Given the description of an element on the screen output the (x, y) to click on. 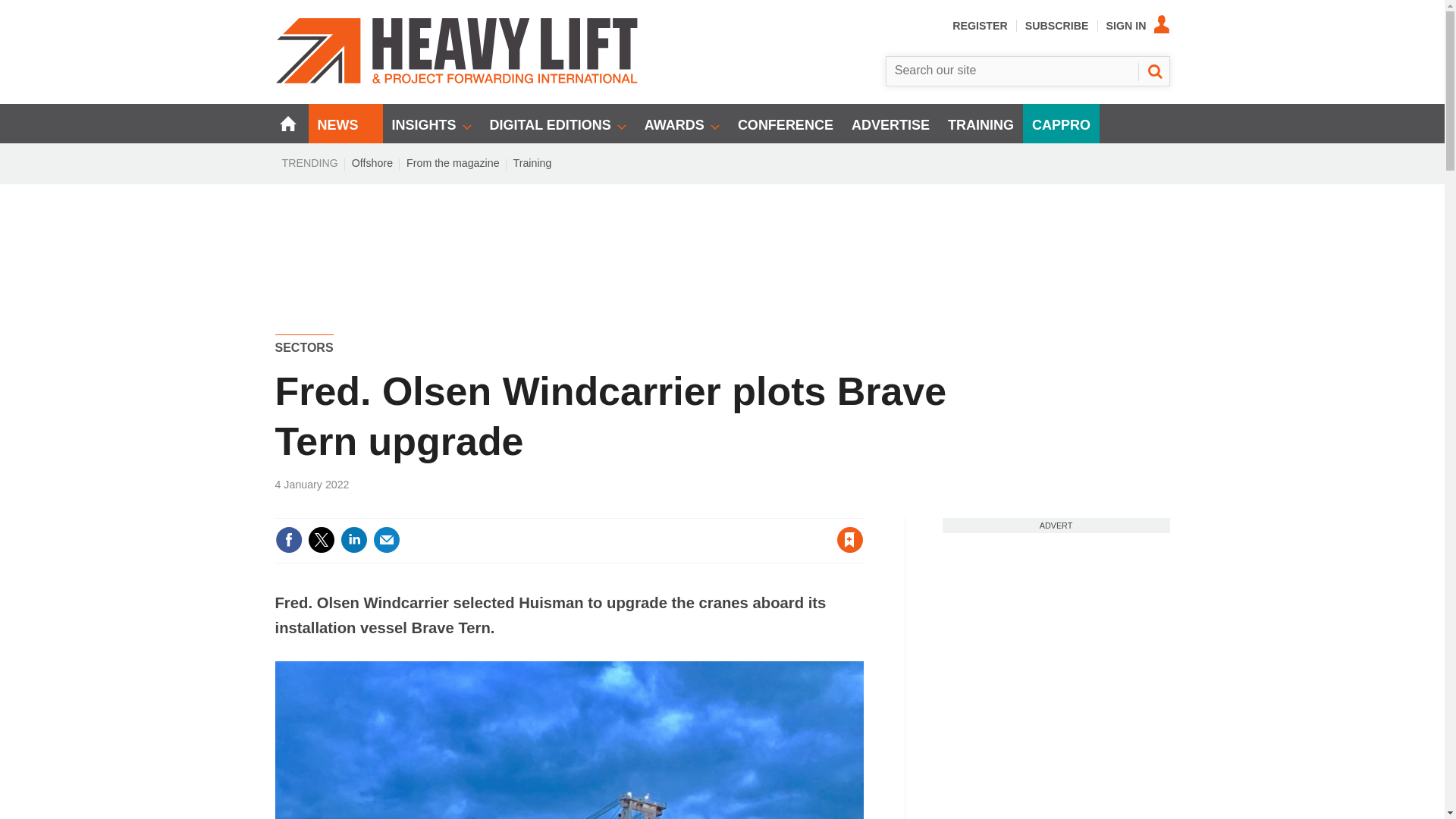
SUBSCRIBE (1057, 25)
Training (532, 162)
3rd party ad content (1055, 627)
Share this on Facebook (288, 539)
Site name (457, 80)
Offshore (371, 162)
Share this on Linked in (352, 539)
From the magazine (452, 162)
SEARCH (1153, 70)
REGISTER (979, 25)
